Given the description of an element on the screen output the (x, y) to click on. 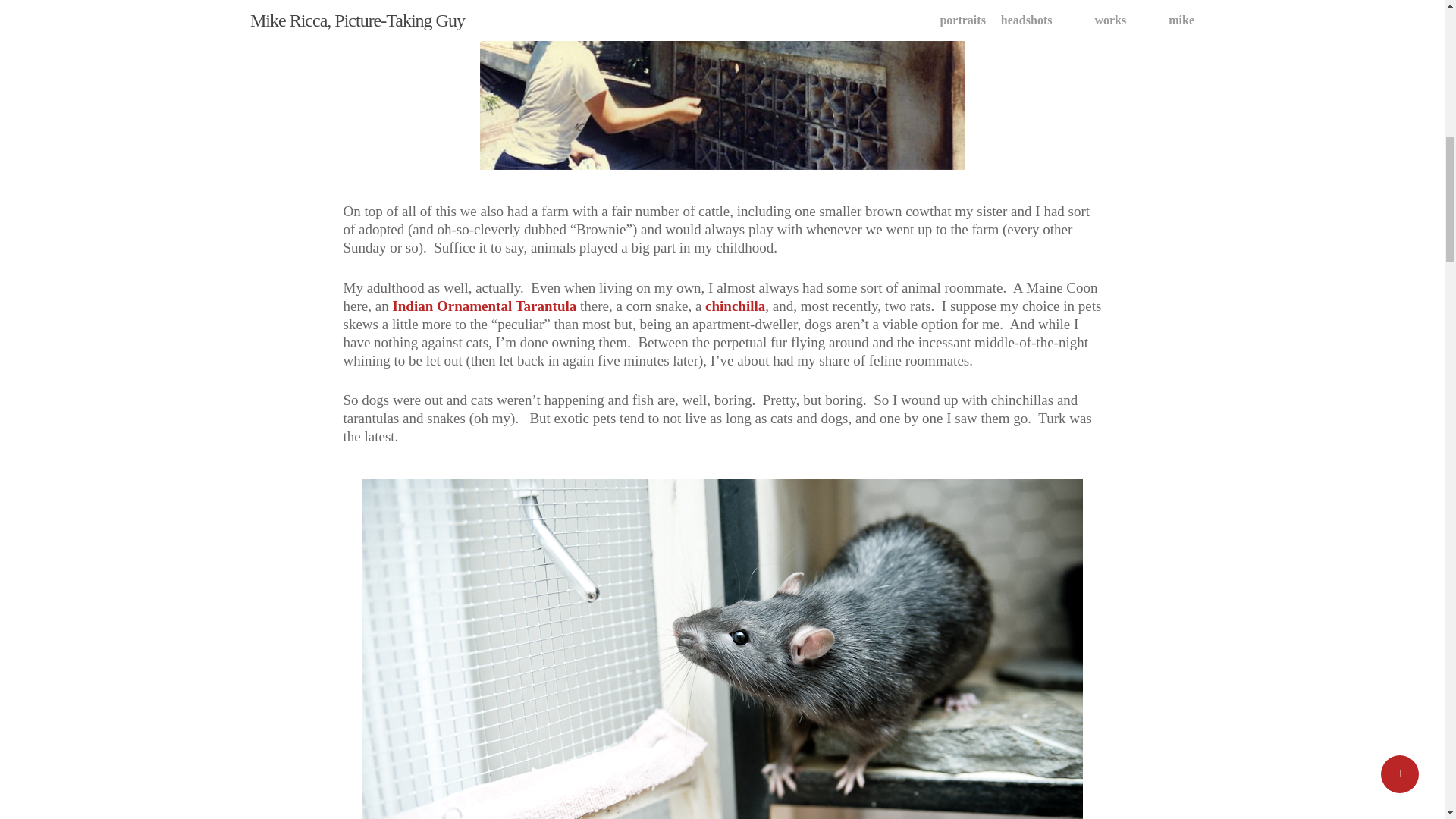
Indian Ornamental Tarantula (483, 304)
2010.06.22 - people say we monkey around (721, 84)
chinchilla (734, 304)
people say we monkey around (721, 84)
